Given the description of an element on the screen output the (x, y) to click on. 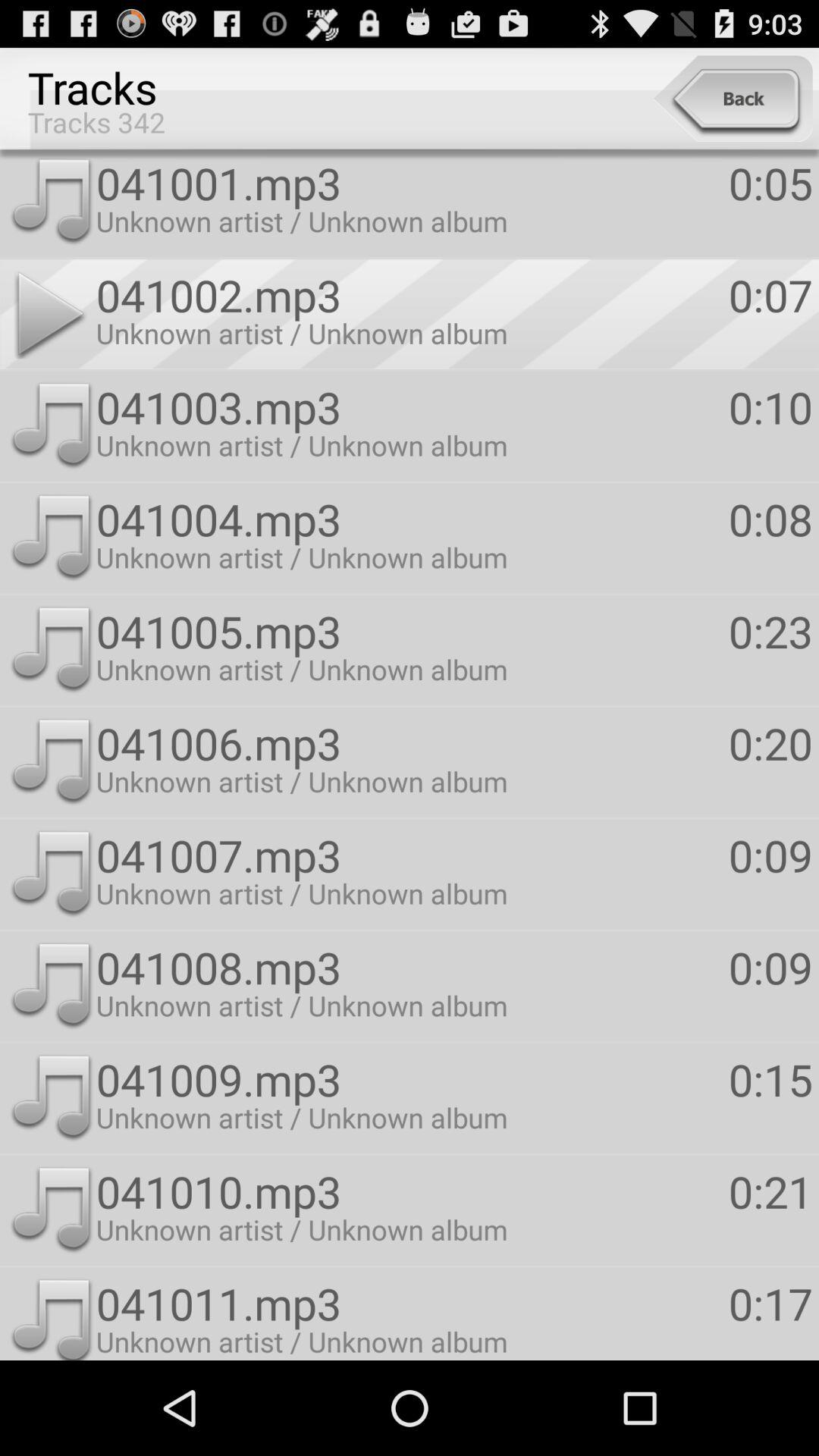
click the item above 041001.mp3 item (732, 98)
